Given the description of an element on the screen output the (x, y) to click on. 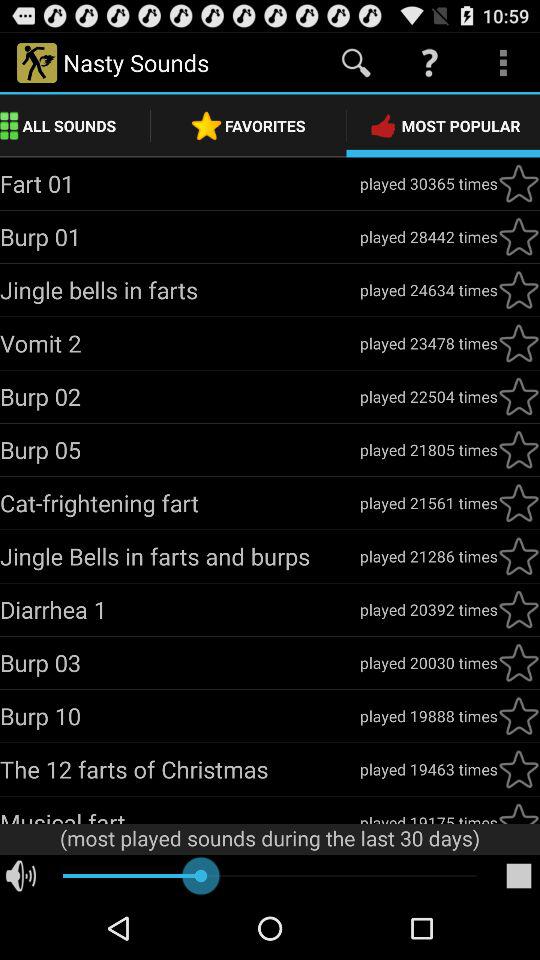
select the icon next to diarrhea 1 item (428, 609)
